Given the description of an element on the screen output the (x, y) to click on. 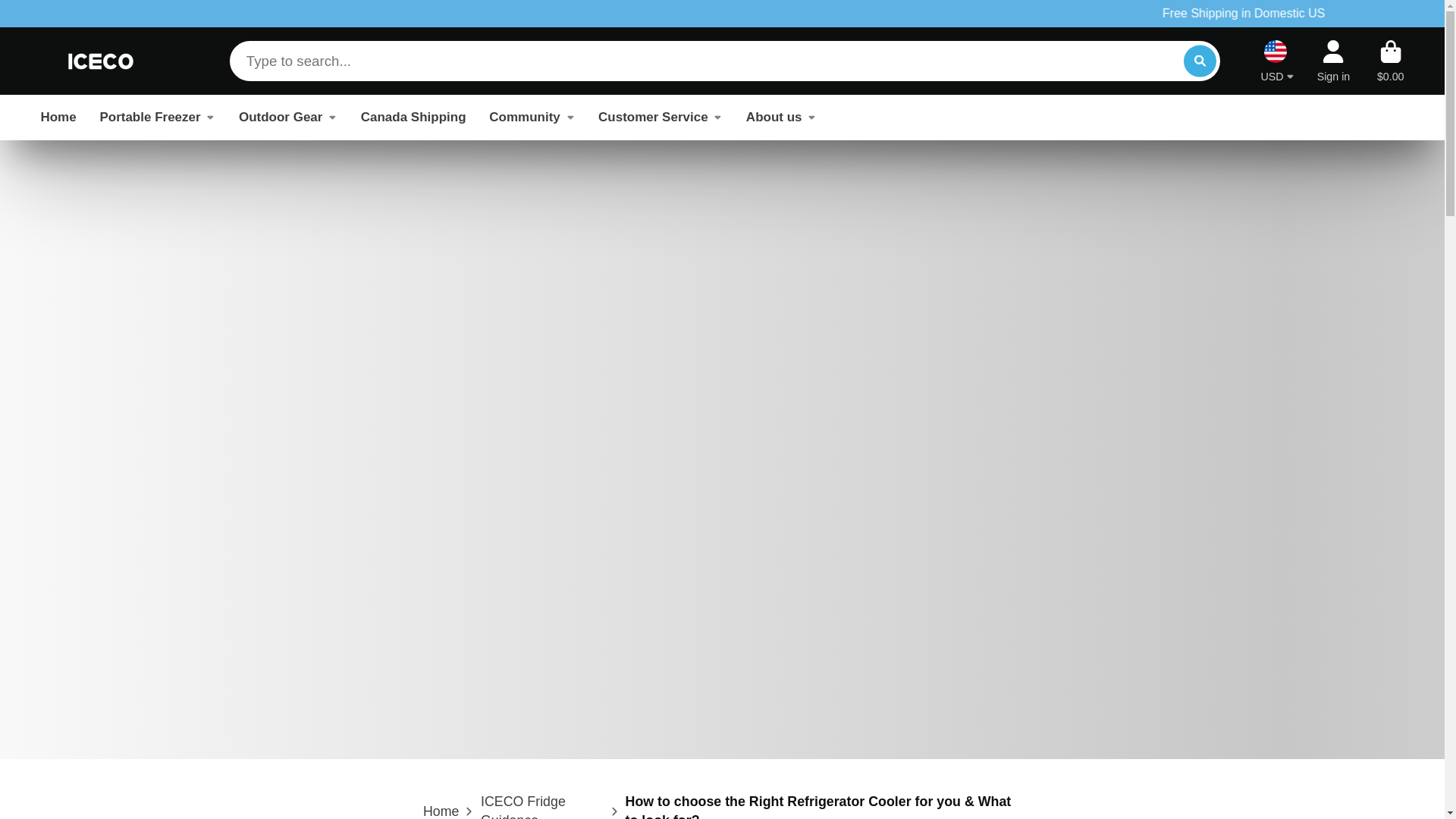
Outdoor Gear (287, 117)
Canada Shipping (413, 117)
Customer Service (660, 117)
Portable Freezer (157, 117)
About us (780, 117)
Logo (100, 60)
Home (441, 810)
Community (532, 117)
